Given the description of an element on the screen output the (x, y) to click on. 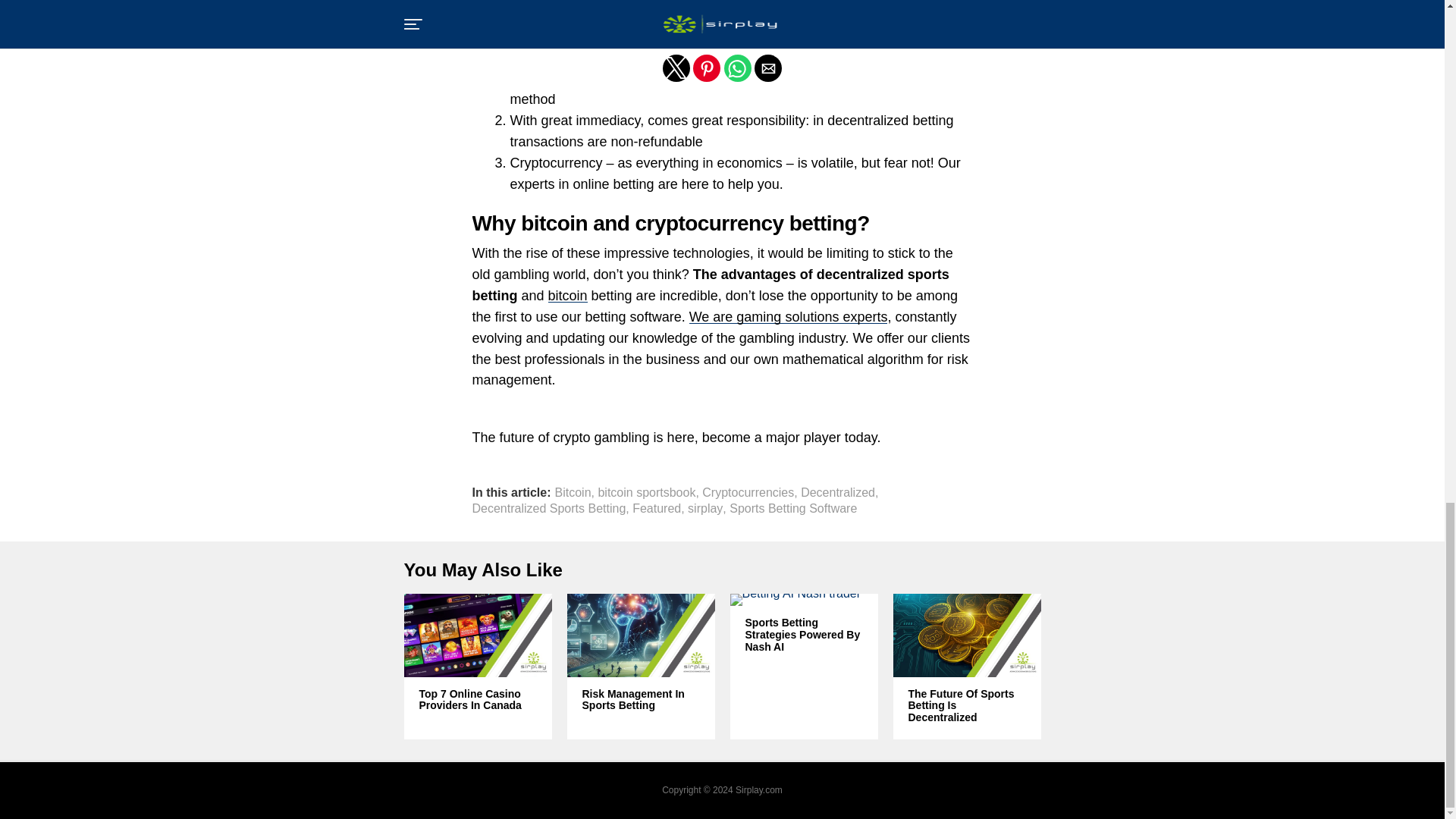
Risk Management In Sports Betting (641, 700)
Decentralized (837, 492)
Featured (656, 508)
sirplay (704, 508)
bitcoin betting (596, 3)
Decentralized Sports Betting (548, 508)
The Future Of Sports Betting Is Decentralized (967, 705)
Sports Betting Strategies Powered By Nash AI (802, 634)
Sports Betting Software (793, 508)
Bitcoin (572, 492)
bitcoin (568, 295)
Cryptocurrencies (747, 492)
bitcoin sportsbook (645, 492)
We are gaming solutions experts (788, 316)
Top 7 Online Casino Providers In Canada (477, 700)
